Given the description of an element on the screen output the (x, y) to click on. 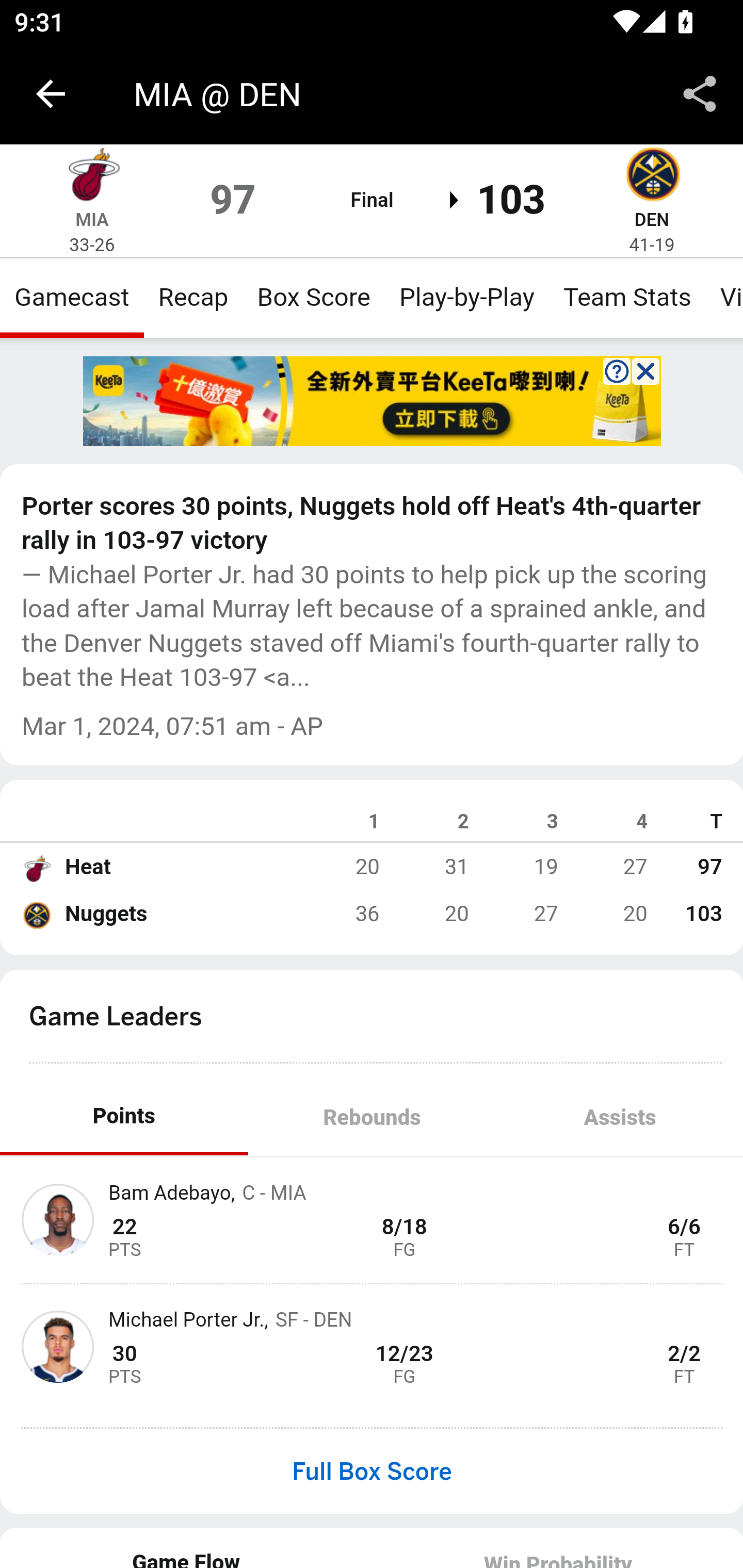
Navigate up (50, 93)
Share (699, 93)
Miami Heat (91, 177)
Denver Nuggets (651, 177)
MIA (91, 219)
DEN (651, 219)
Gamecast (72, 296)
Recap (192, 296)
Box Score (314, 296)
Play-by-Play (466, 296)
Team Stats (627, 296)
Miami Heat (36, 866)
Denver Nuggets (36, 913)
Points (124, 1116)
Rebounds (371, 1116)
Assists (618, 1116)
Full Box Score (371, 1471)
Game Flow (186, 1547)
Win Probability (557, 1547)
